Given the description of an element on the screen output the (x, y) to click on. 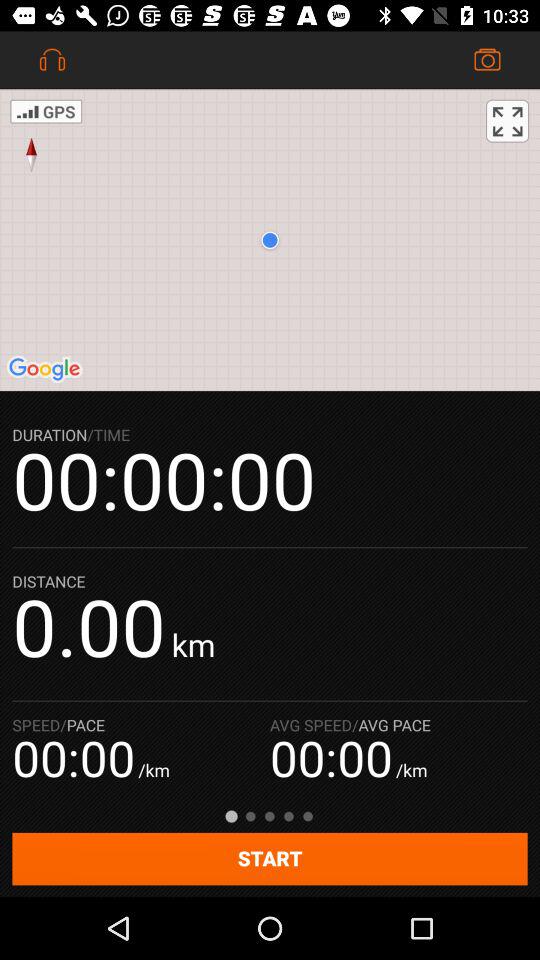
choose the item above the start (507, 120)
